Given the description of an element on the screen output the (x, y) to click on. 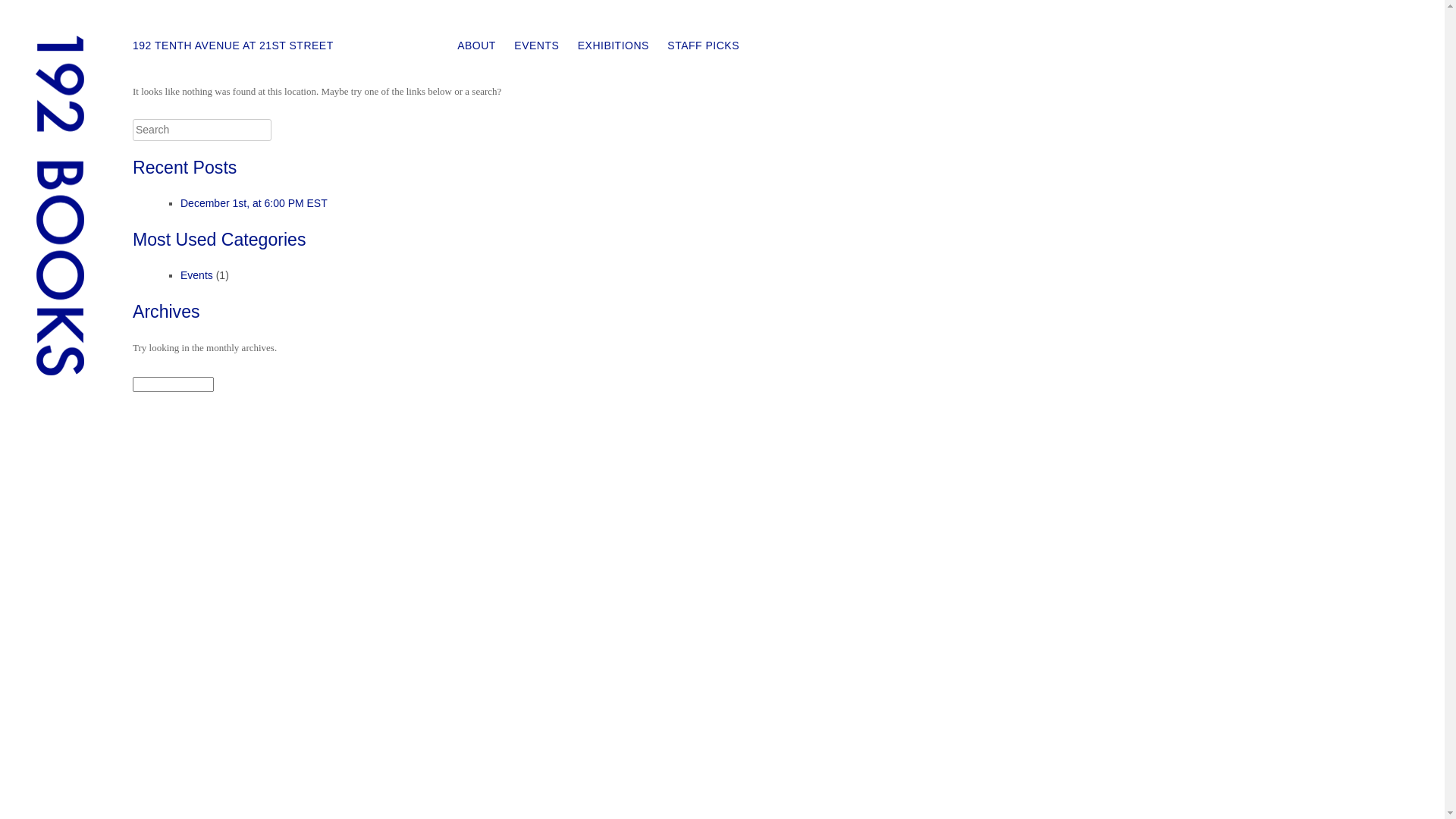
EXHIBITIONS Element type: text (613, 45)
Events Element type: text (196, 275)
STAFF PICKS Element type: text (703, 45)
December 1st, at 6:00 PM EST Element type: text (253, 203)
ABOUT Element type: text (476, 45)
EVENTS Element type: text (536, 45)
Search Element type: text (25, 10)
Skip to content Element type: text (492, 48)
192 TENTH AVENUE AT 21ST STREET Element type: text (232, 45)
